Given the description of an element on the screen output the (x, y) to click on. 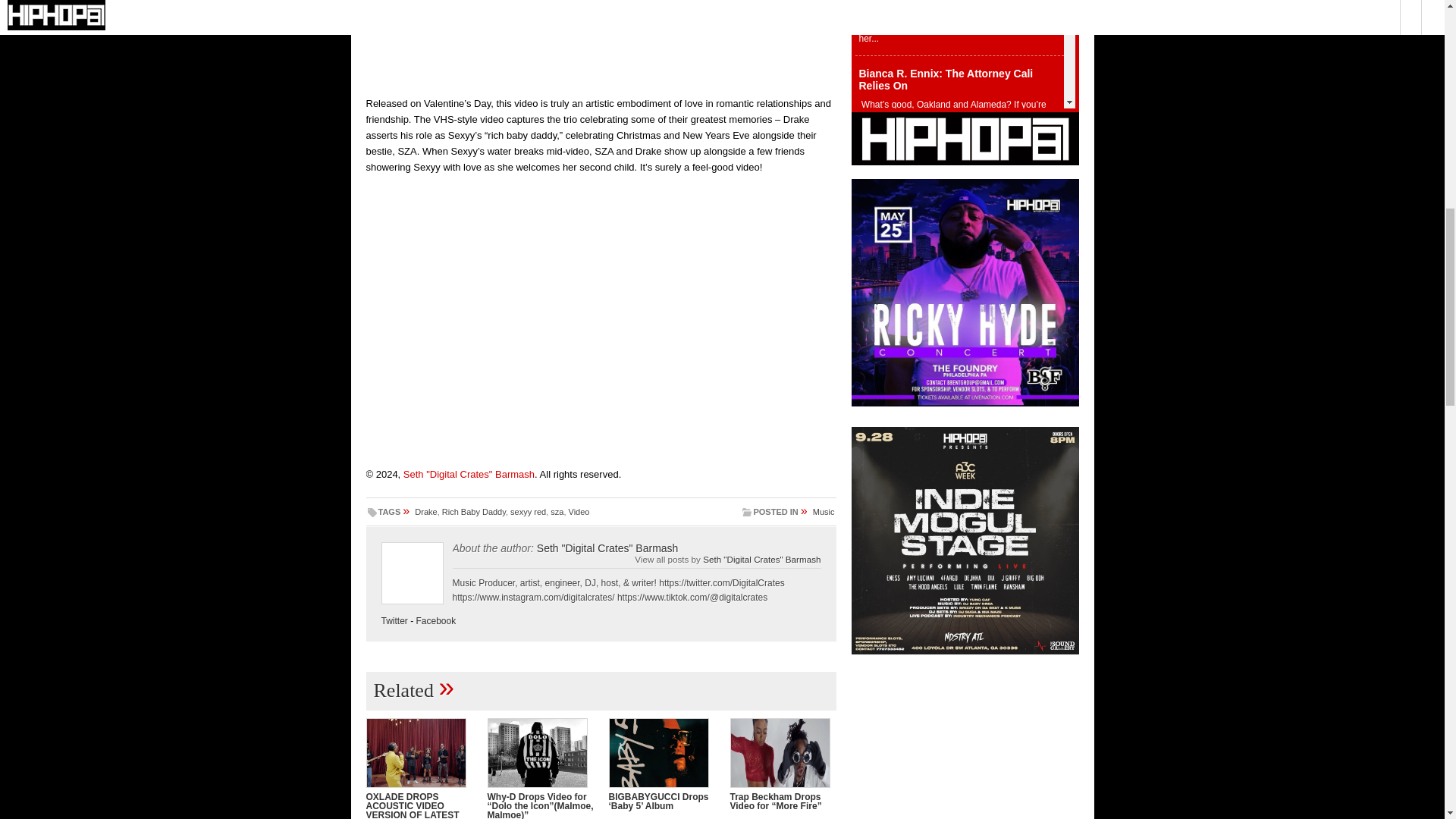
Seth "Digital Crates" Barmash (762, 559)
Posts by Seth "Digital Crates" Barmash (468, 473)
Seth "Digital Crates" Barmash (468, 473)
Music (823, 511)
Posts by Seth "Digital Crates" Barmash (762, 559)
Rich Baby Daddy (473, 511)
Posts by Seth "Digital Crates" Barmash (607, 548)
sza (556, 511)
sexyy red (528, 511)
